Given the description of an element on the screen output the (x, y) to click on. 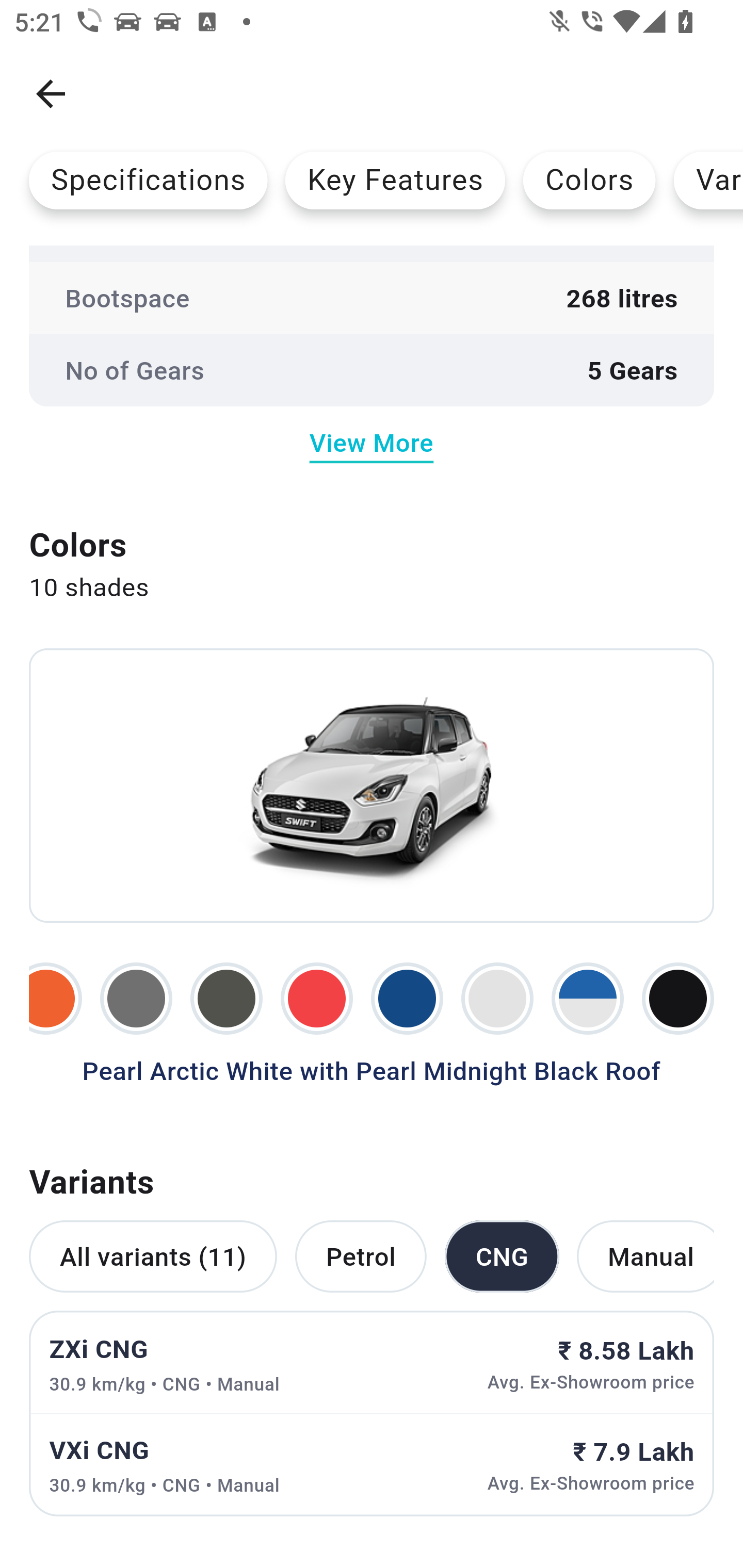
Back (50, 93)
Specifications (147, 180)
Key Features (395, 180)
Colors (589, 180)
All variants (11) (152, 1255)
Petrol (360, 1255)
CNG (501, 1255)
Manual (645, 1255)
